Given the description of an element on the screen output the (x, y) to click on. 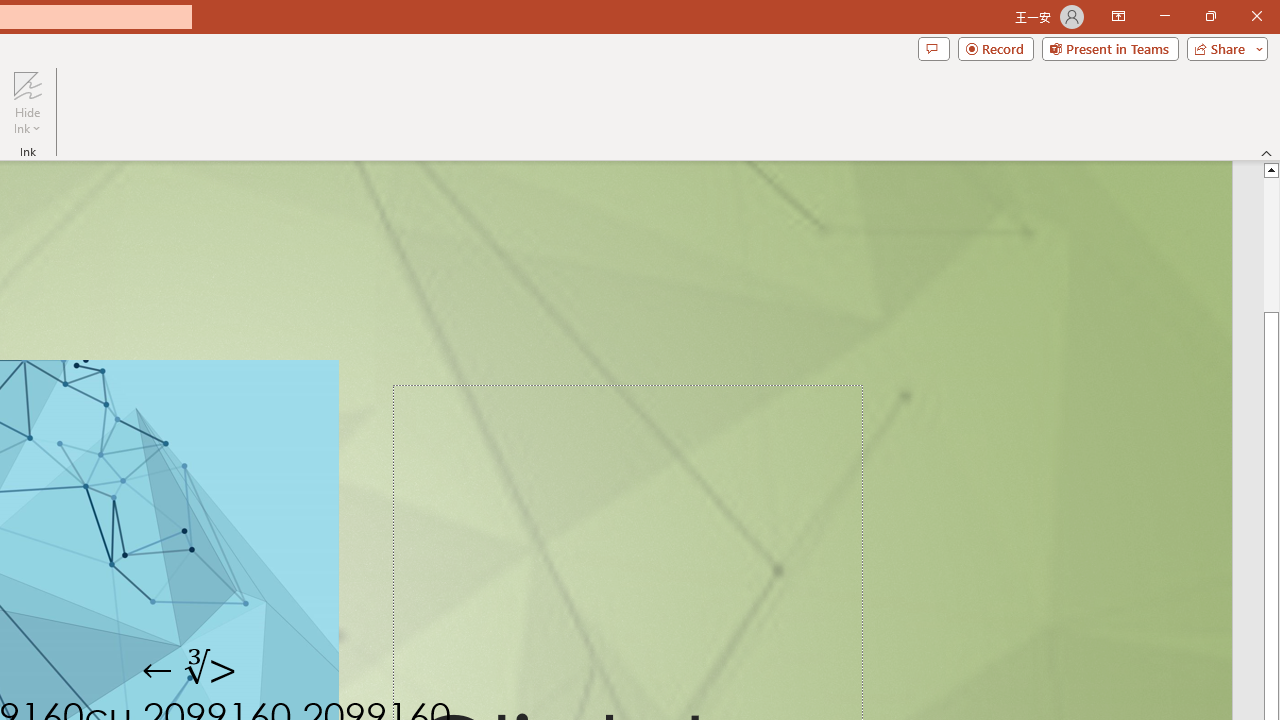
Minimize (1164, 16)
Ribbon Display Options (1118, 16)
Collapse the Ribbon (1267, 152)
Hide Ink (27, 84)
Present in Teams (1109, 48)
Share (1223, 48)
Close (1256, 16)
Restore Down (1210, 16)
Comments (933, 48)
Hide Ink (27, 102)
TextBox 7 (189, 669)
